Given the description of an element on the screen output the (x, y) to click on. 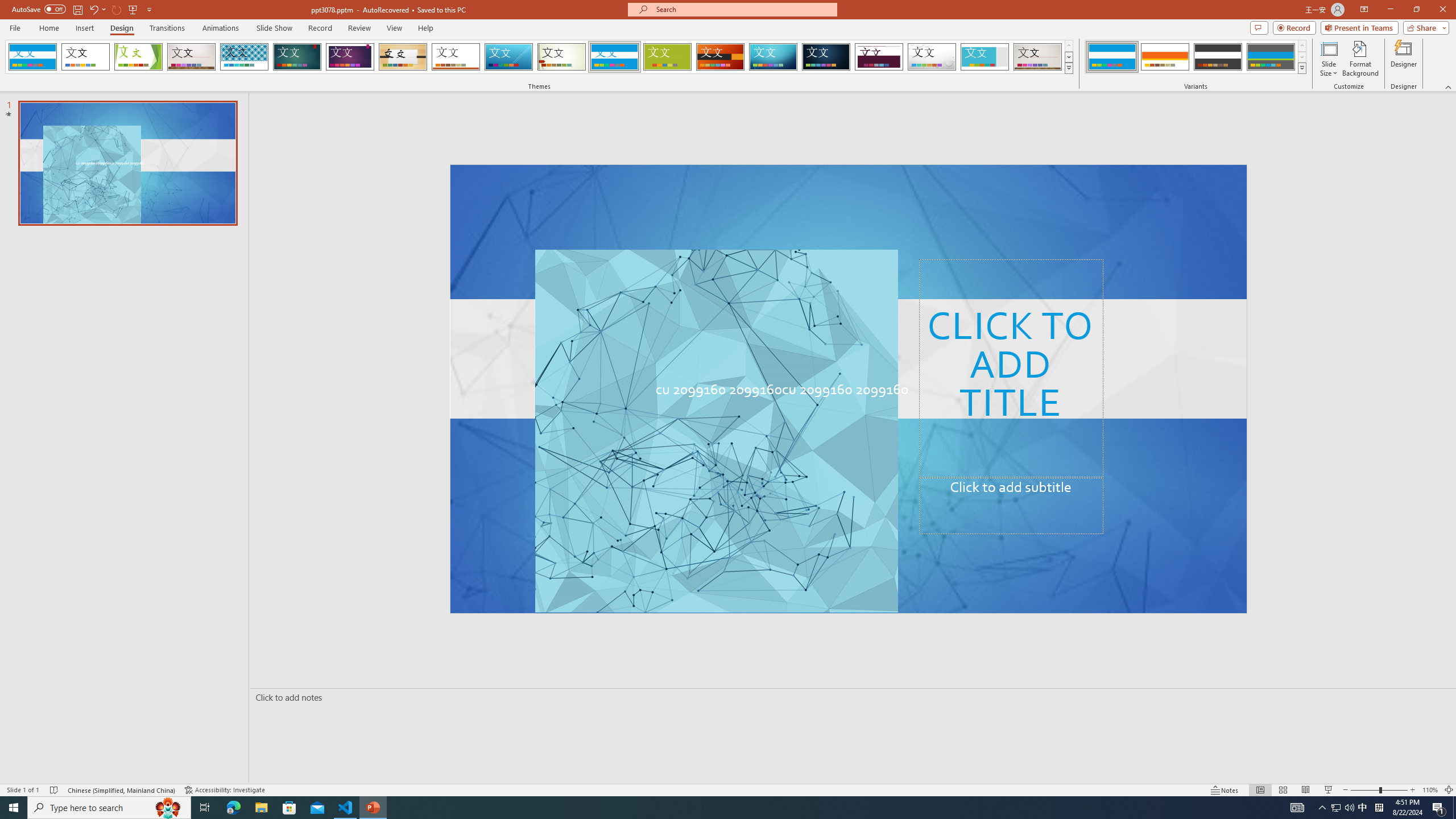
Format Background (1360, 58)
AutomationID: SlideThemesGallery (539, 56)
Banded Variant 4 (1270, 56)
